Given the description of an element on the screen output the (x, y) to click on. 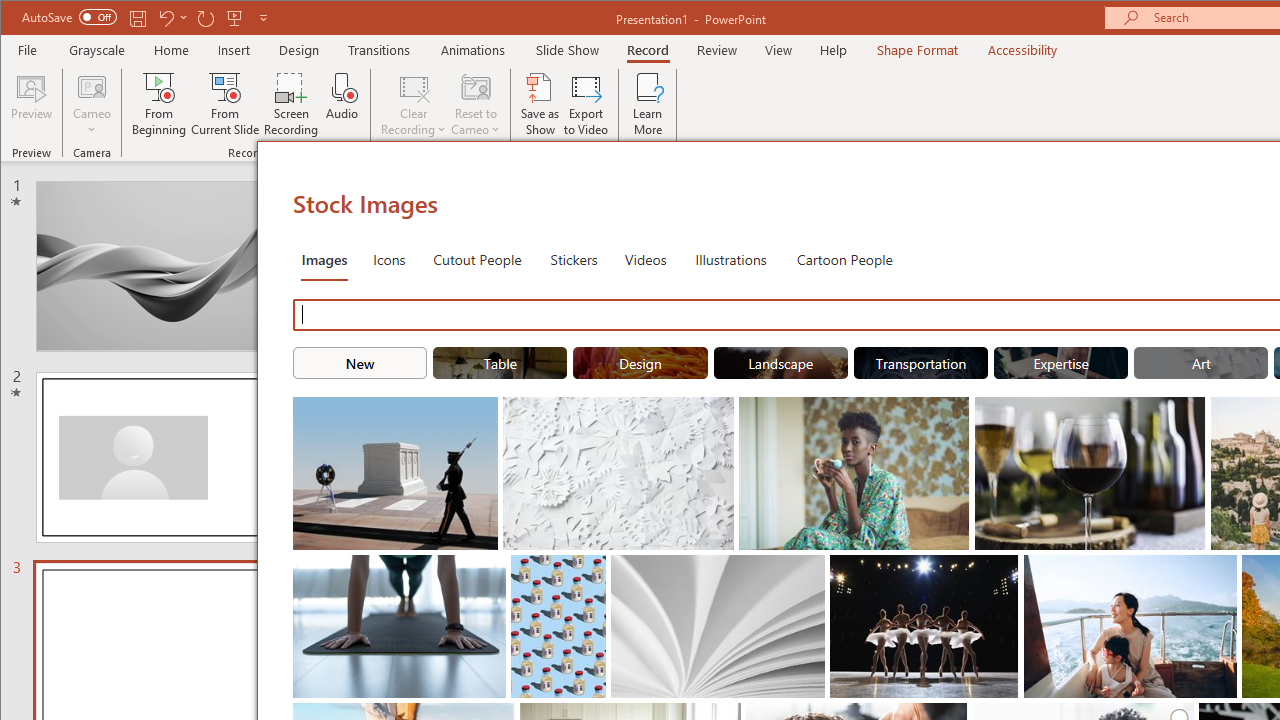
"Art" Stock Images. (1201, 362)
"Transportation" Stock Images. (920, 362)
"Landscape" Stock Images. (780, 362)
From Beginning... (159, 104)
Clear Recording (413, 104)
"Table" Stock Images. (499, 362)
Save as Show (539, 104)
